Given the description of an element on the screen output the (x, y) to click on. 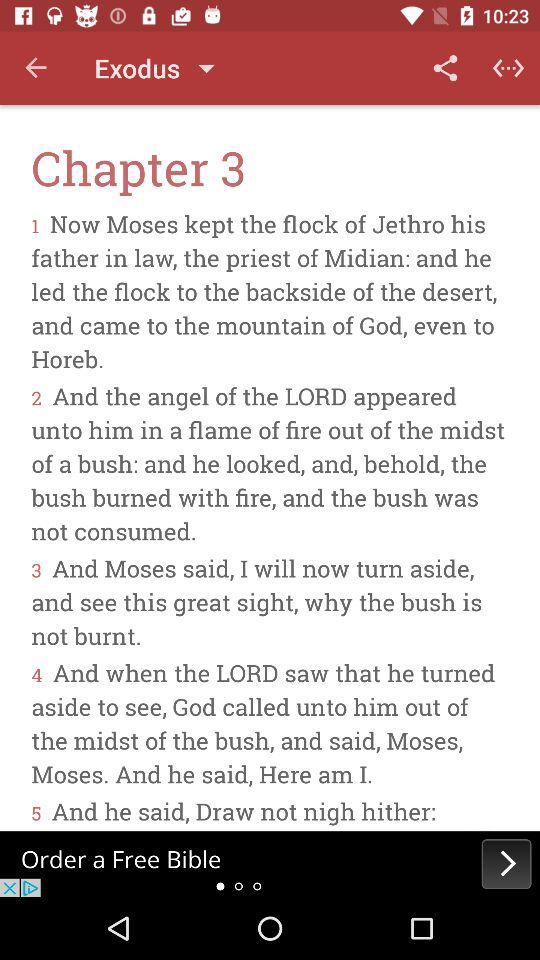
advertisement (270, 864)
